Given the description of an element on the screen output the (x, y) to click on. 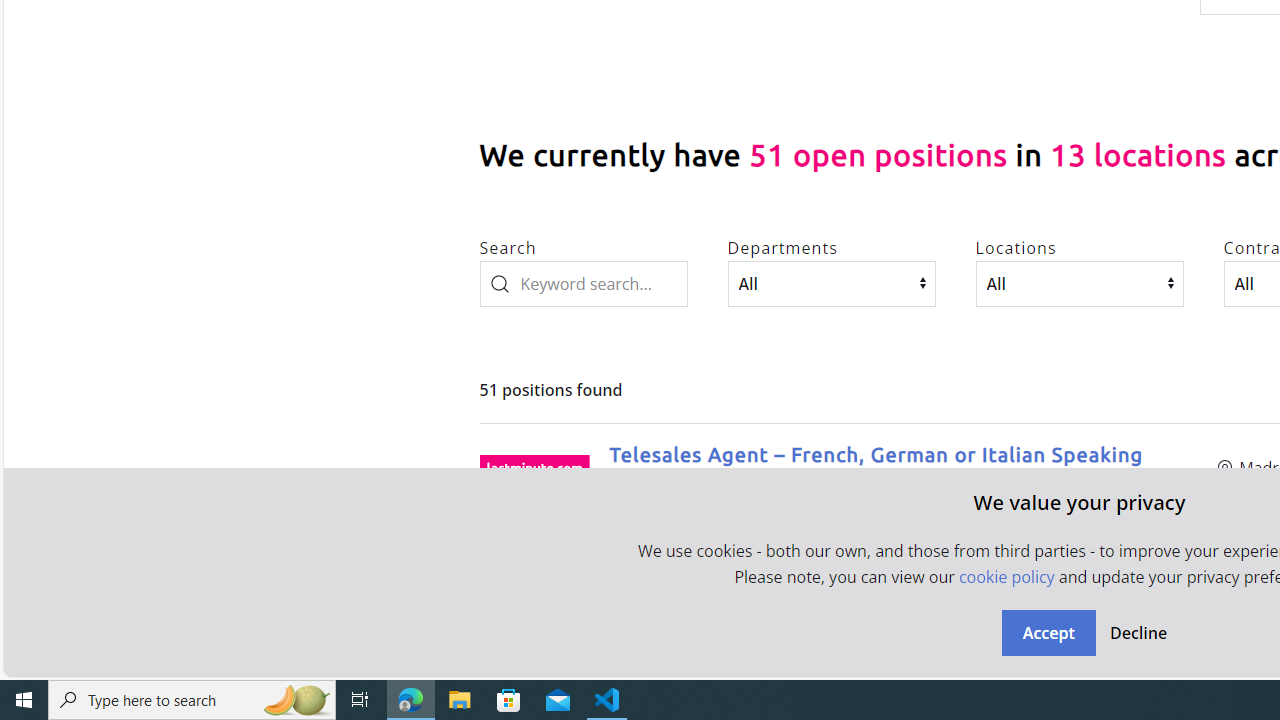
Full Stack Engineer (705, 631)
